Given the description of an element on the screen output the (x, y) to click on. 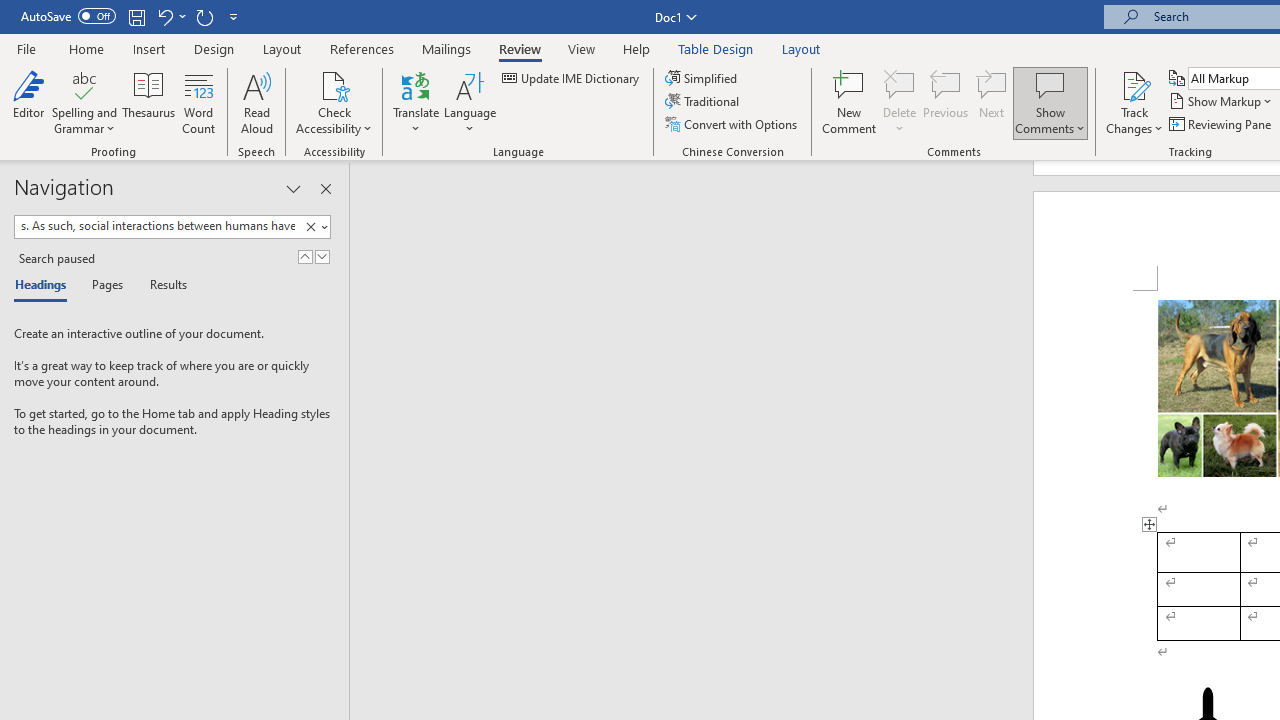
Track Changes (1134, 84)
Translate (415, 102)
References (362, 48)
Clear (314, 227)
Previous (946, 102)
Delete (900, 84)
Task Pane Options (293, 188)
Previous Result (304, 256)
Review (520, 48)
Layout (801, 48)
Word Count (198, 102)
